Given the description of an element on the screen output the (x, y) to click on. 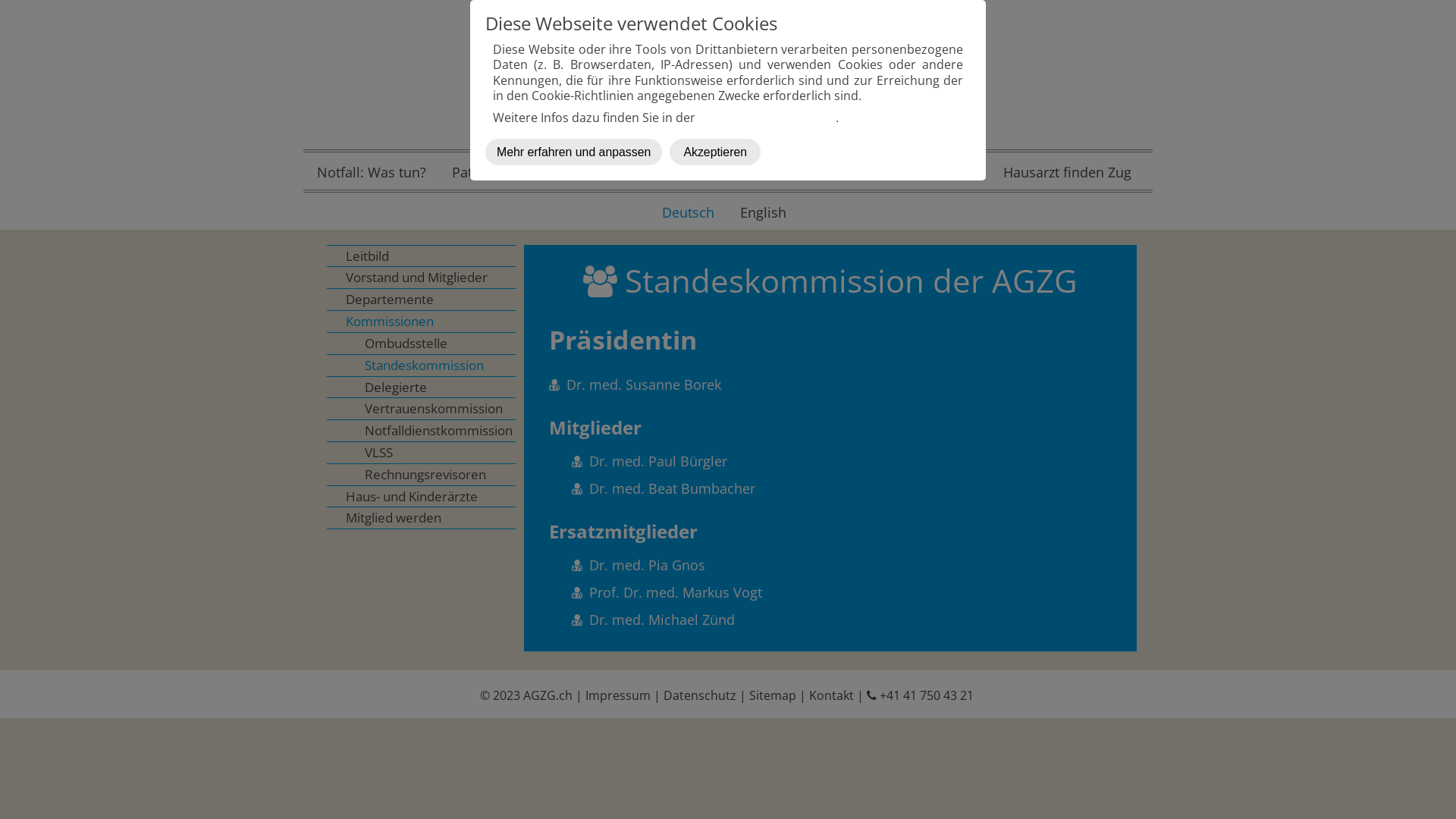
Patientenbereich Element type: text (505, 172)
AGZG.ch Element type: text (547, 695)
Sitemap Element type: text (772, 695)
Vertrauenskommission Element type: text (420, 409)
Login Mitglieder Element type: text (925, 172)
Deutsch Element type: text (687, 212)
Standeskommission Element type: text (420, 365)
Notfall: Was tun? Element type: text (371, 172)
Delegierte Element type: text (420, 387)
Ombudsstelle Element type: text (420, 343)
Leitbild Element type: text (420, 256)
Kommissionen Element type: text (420, 321)
Kontakt Element type: text (830, 695)
Mehr erfahren und anpassen Element type: text (573, 151)
VLSS Element type: text (420, 453)
Rechnungsrevisoren Element type: text (420, 475)
Impressum Element type: text (617, 695)
Datenschutz Element type: text (698, 695)
English Element type: text (763, 212)
 +41 41 750 43 21 Element type: text (920, 695)
Mitglied werden Element type: text (420, 518)
Akzeptieren Element type: text (714, 151)
Notfalldienstkommission Element type: text (420, 431)
Vorstand und Mitglieder Element type: text (420, 277)
Hausarzt finden Zug Element type: text (1067, 172)
Departemente Element type: text (420, 299)
